Given the description of an element on the screen output the (x, y) to click on. 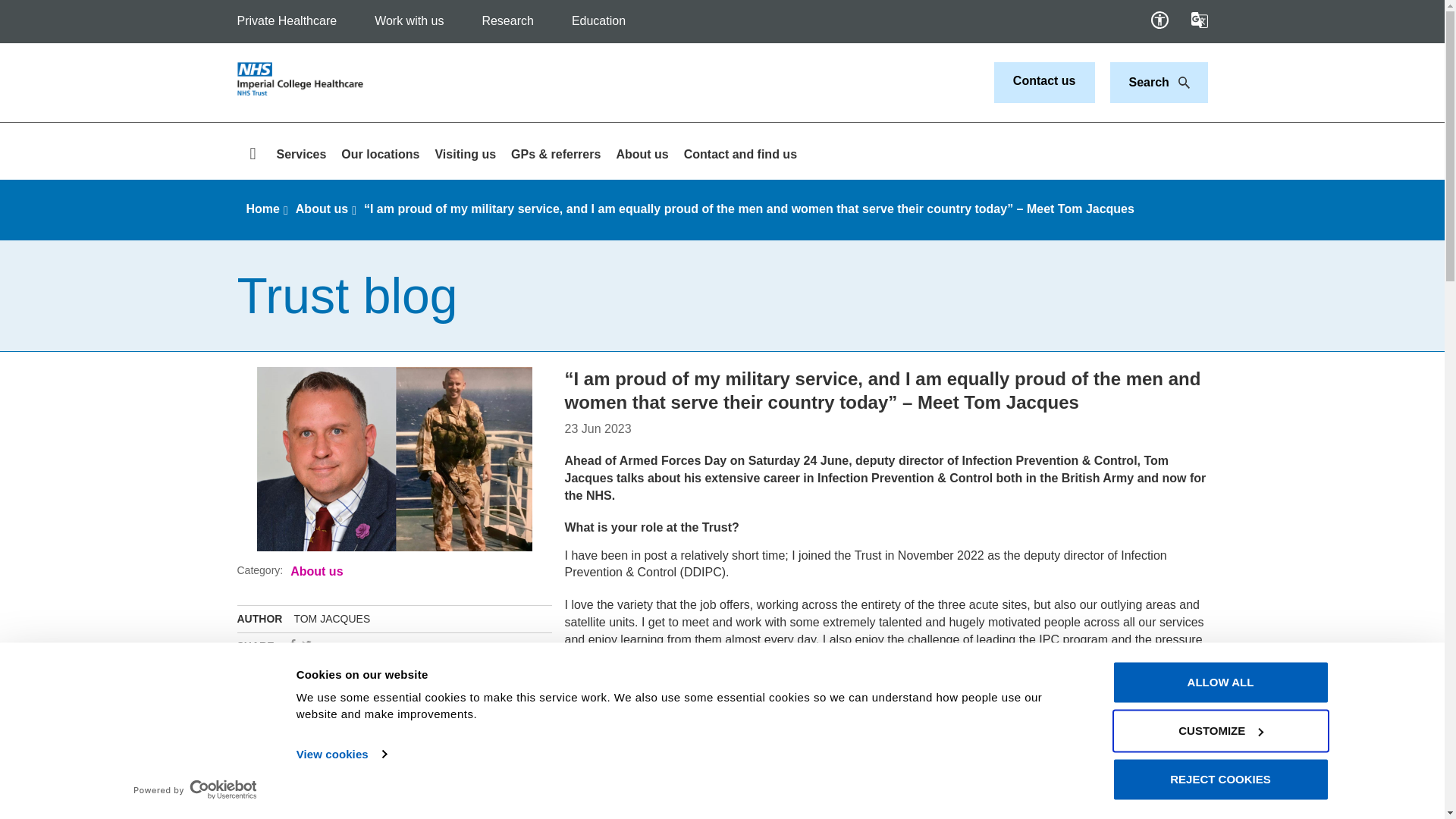
ICT Twitter Page (306, 645)
View cookies (342, 753)
ICT Facebook Page (292, 645)
